Given the description of an element on the screen output the (x, y) to click on. 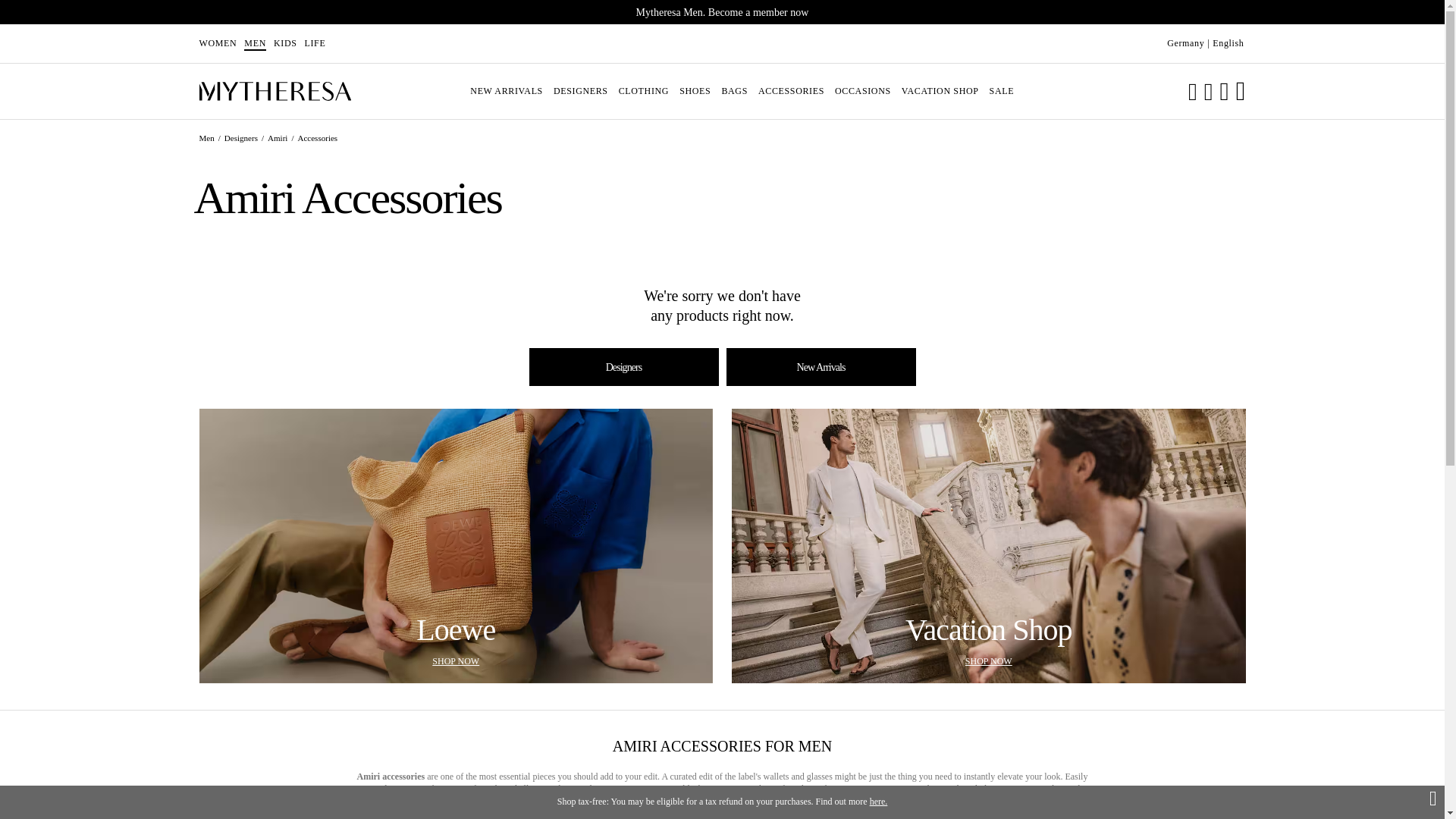
Men (207, 137)
MEN (255, 43)
ACCESSORIES (791, 90)
LIFE (315, 43)
WOMEN (506, 90)
OCCASIONS (216, 43)
KIDS (862, 90)
